Given the description of an element on the screen output the (x, y) to click on. 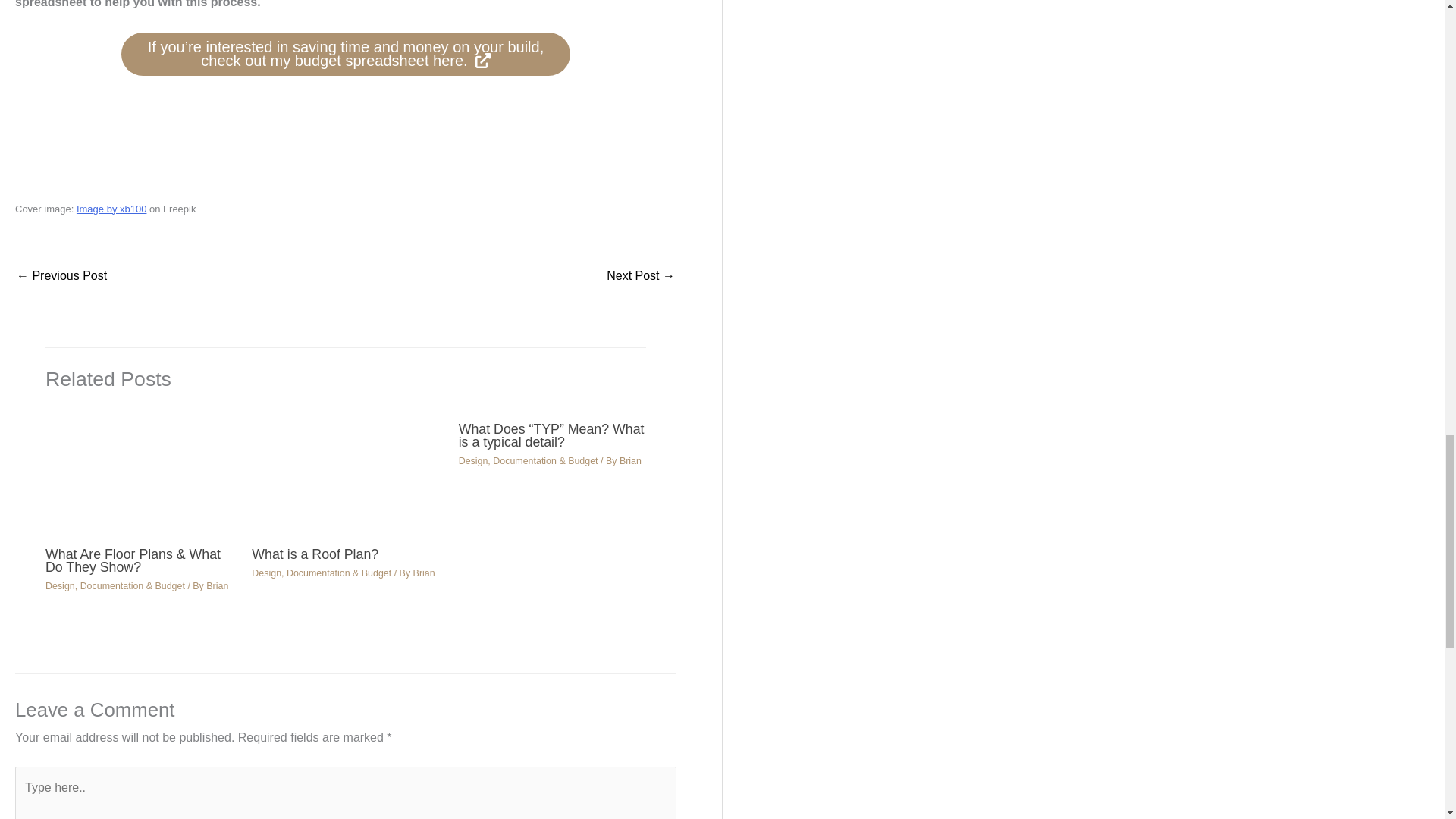
View all posts by Brian (631, 460)
View all posts by Brian (217, 585)
What is a Contingency in Construction? (61, 276)
What Is Blocking In Construction? (641, 276)
View all posts by Brian (424, 573)
Brian (217, 585)
Image by xb100 (112, 208)
